Given the description of an element on the screen output the (x, y) to click on. 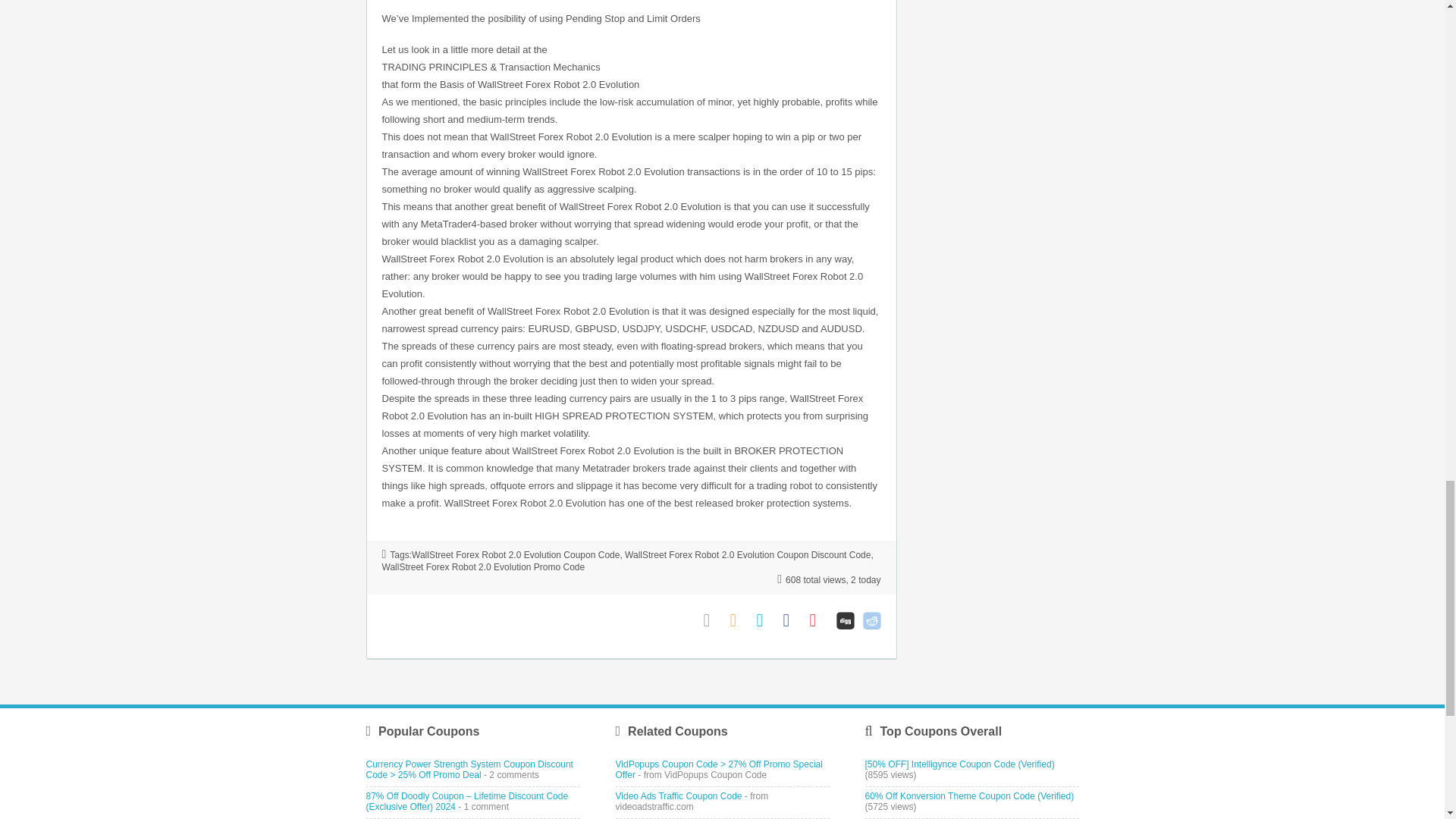
Digg (844, 620)
WallStreet Forex Robot 2.0 Evolution Coupon Discount Code (747, 554)
Email to Friend (712, 620)
Reddit (871, 620)
WallStreet Forex Robot 2.0 Evolution Coupon Code (516, 554)
Pinterest (818, 620)
Twitter (765, 620)
Facebook (791, 620)
Coupon Comments RSS (738, 620)
WallStreet Forex Robot 2.0 Evolution Promo Code (483, 566)
